Given the description of an element on the screen output the (x, y) to click on. 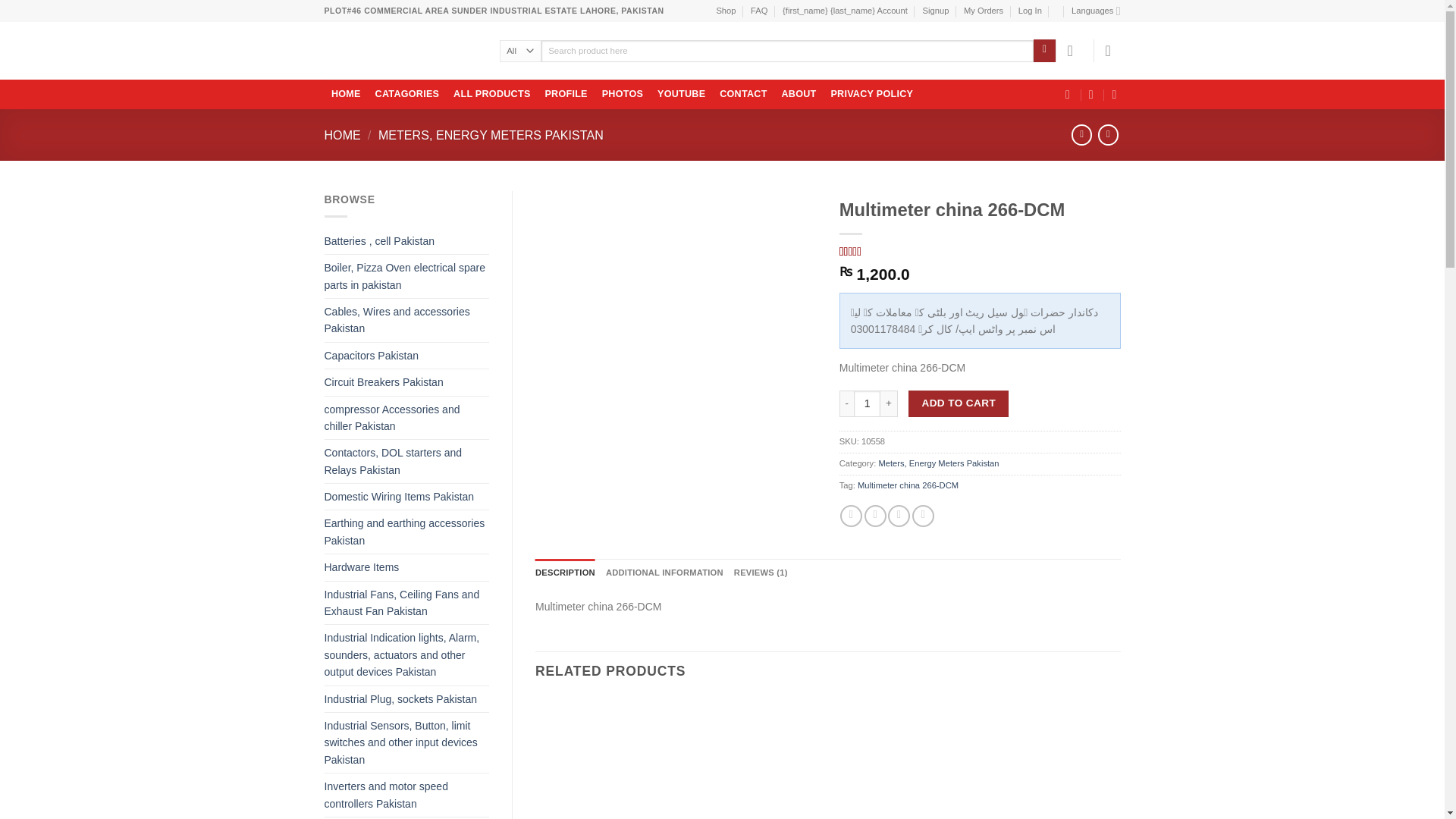
Search (1044, 50)
1 (866, 403)
CATAGORIES (407, 94)
HOME (346, 94)
PHOTOS (621, 94)
Shop (725, 11)
HOME (342, 134)
ABOUT (799, 94)
Signup (936, 11)
CONTACT (743, 94)
Languages (1095, 11)
My Orders (983, 11)
PROFILE (565, 94)
PRIVACY POLICY (872, 94)
